Given the description of an element on the screen output the (x, y) to click on. 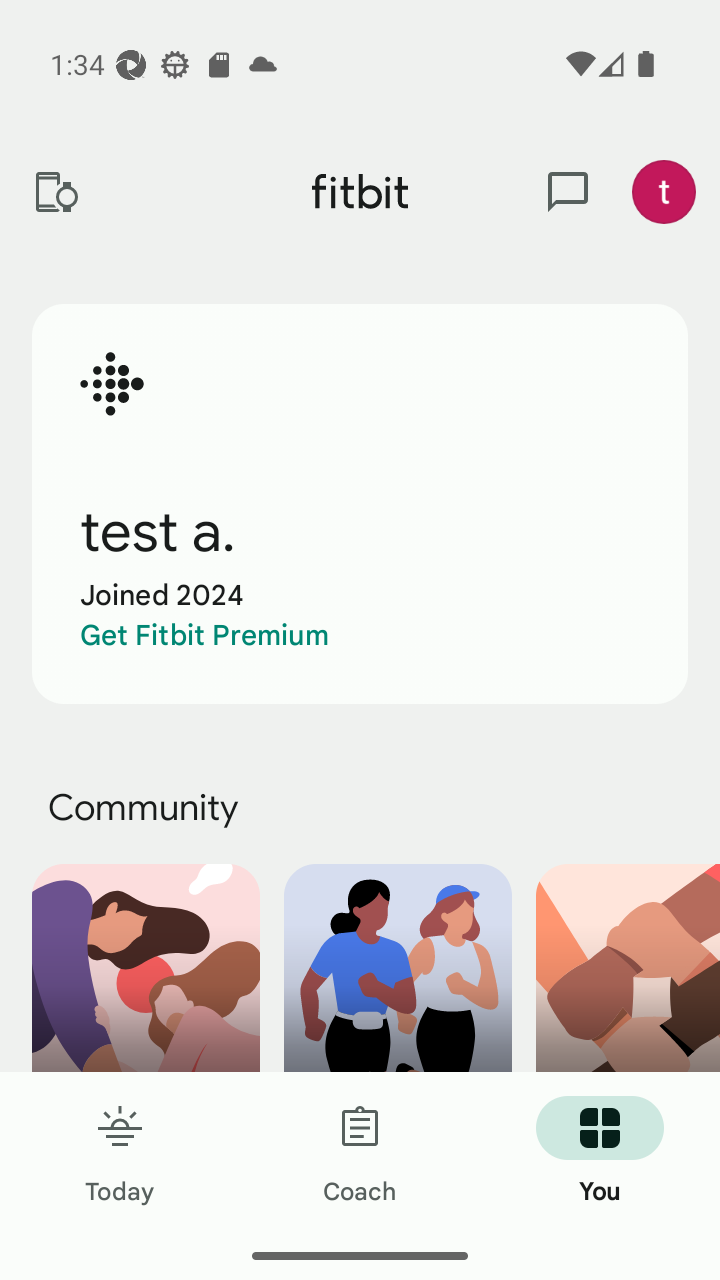
Devices and apps (55, 191)
messages and notifications (567, 191)
Get Fitbit Premium (204, 635)
Today (119, 1151)
Coach (359, 1151)
